Given the description of an element on the screen output the (x, y) to click on. 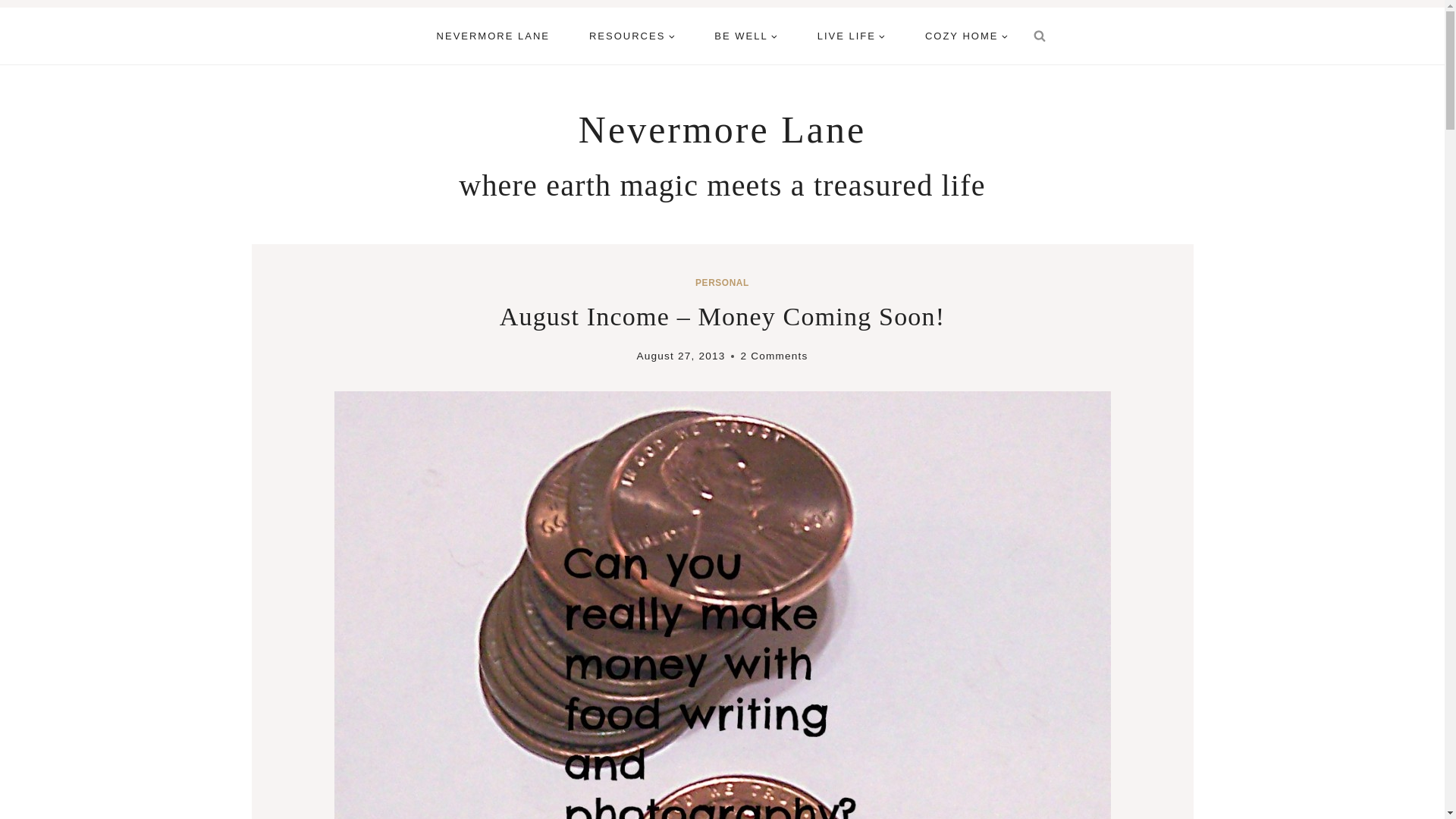
2 Comments (773, 355)
COZY HOME (966, 35)
BE WELL (745, 35)
LIVE LIFE (851, 35)
NEVERMORE LANE (492, 35)
RESOURCES (631, 35)
